Given the description of an element on the screen output the (x, y) to click on. 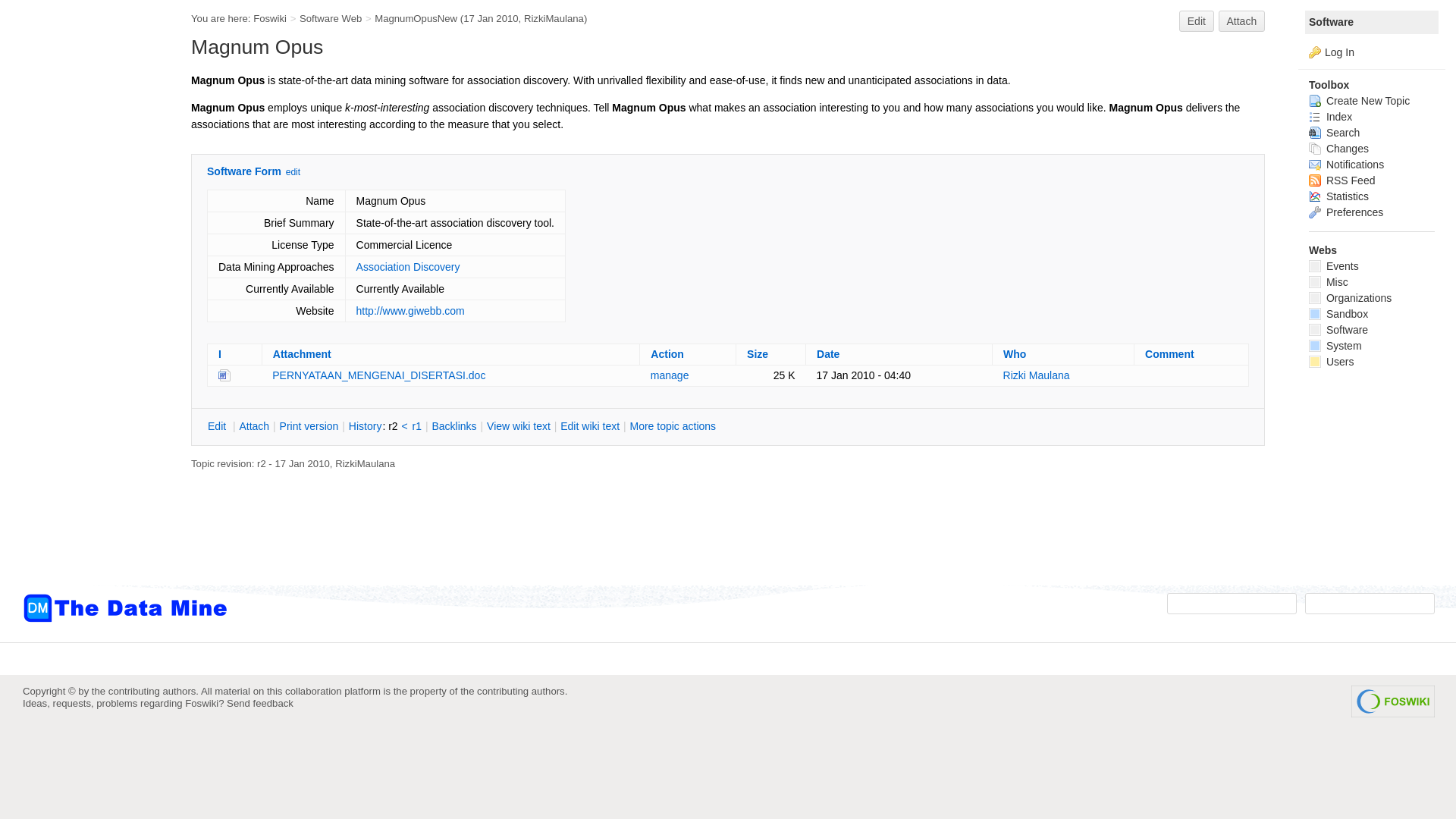
RizkiMaulana (364, 463)
Create New Topic (1358, 101)
manage (669, 375)
Backlinks (453, 426)
Sort by this column (667, 354)
View without formatting (518, 426)
Attach an image or document to this topic (253, 426)
Who (1014, 354)
Rizki Maulana (1036, 375)
Attach (1241, 20)
